Given the description of an element on the screen output the (x, y) to click on. 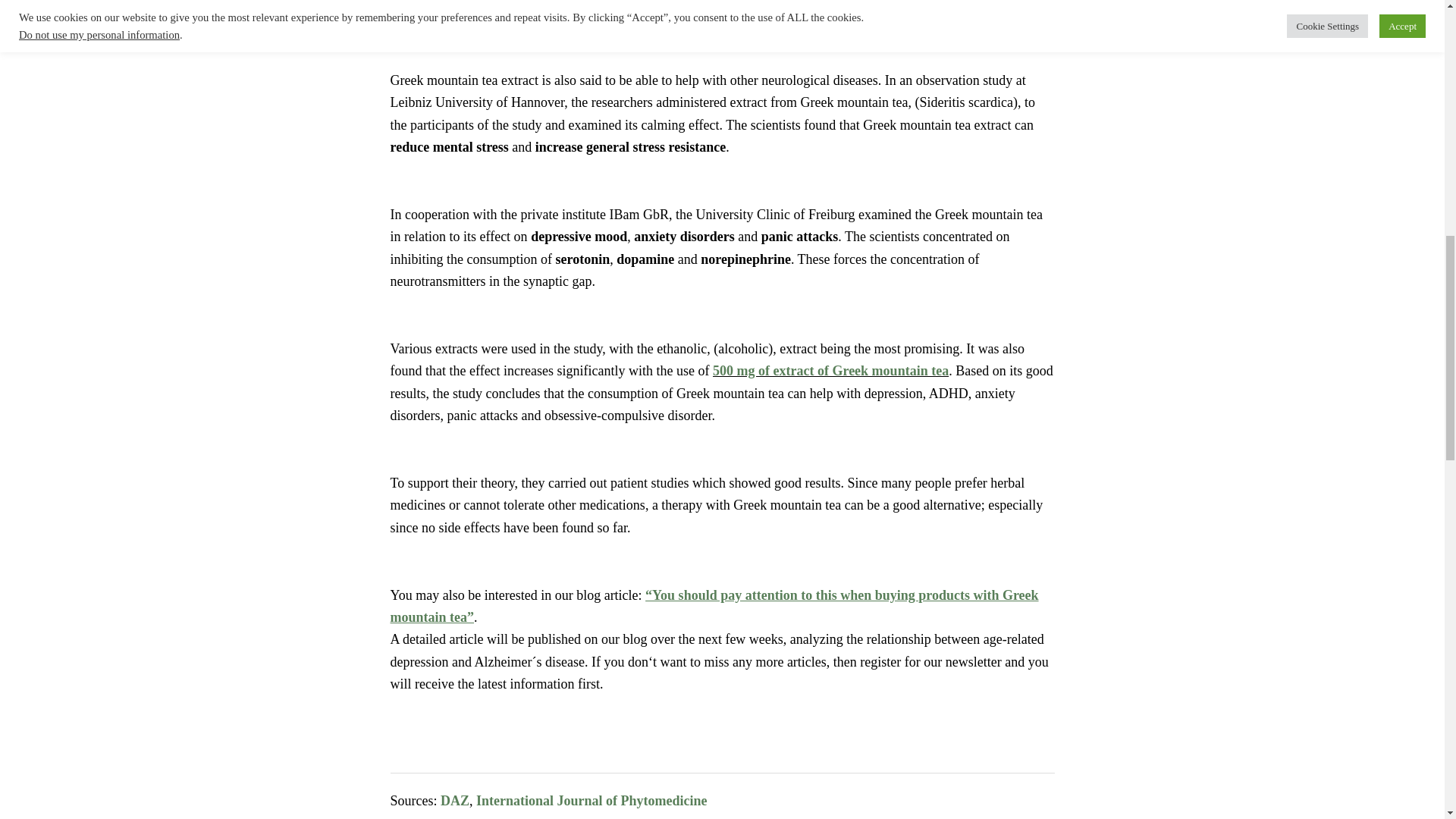
500 mg of extract of Greek mountain tea (831, 370)
DAZ (454, 800)
International Journal of Phytomedicine (591, 800)
